Given the description of an element on the screen output the (x, y) to click on. 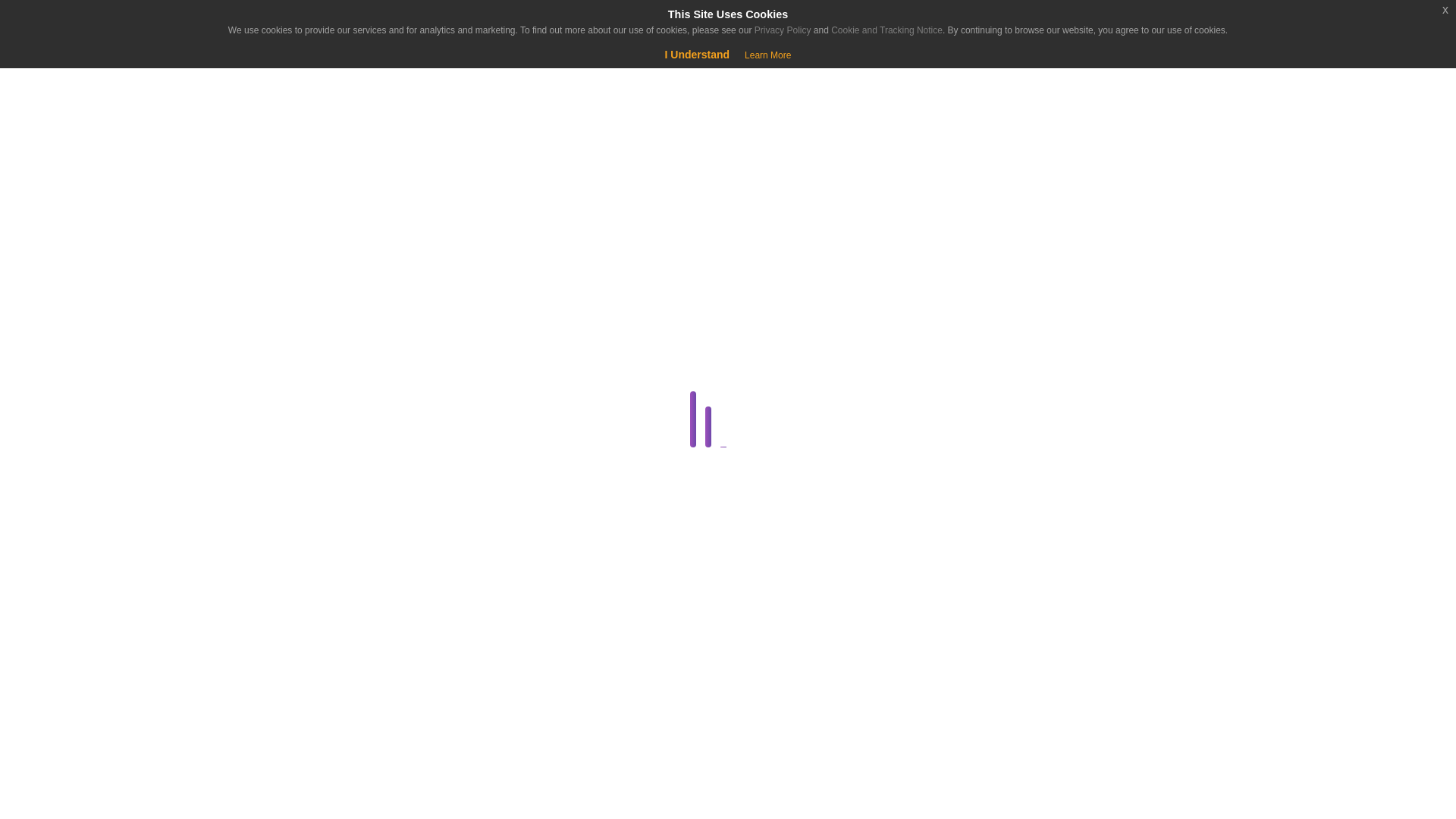
Video Tutorials (281, 816)
Billing (281, 349)
Affiliates (283, 312)
Hosting Dashboard (281, 713)
Dedicated Server Guides (281, 495)
FTP (283, 640)
Store (94, 176)
General (281, 677)
Colocation Guides (283, 385)
Domains API (283, 567)
Linux Administration (281, 750)
Databases (281, 458)
Domains and DNS (281, 531)
Shopping Cart (59, 76)
cPanel (281, 422)
